Given the description of an element on the screen output the (x, y) to click on. 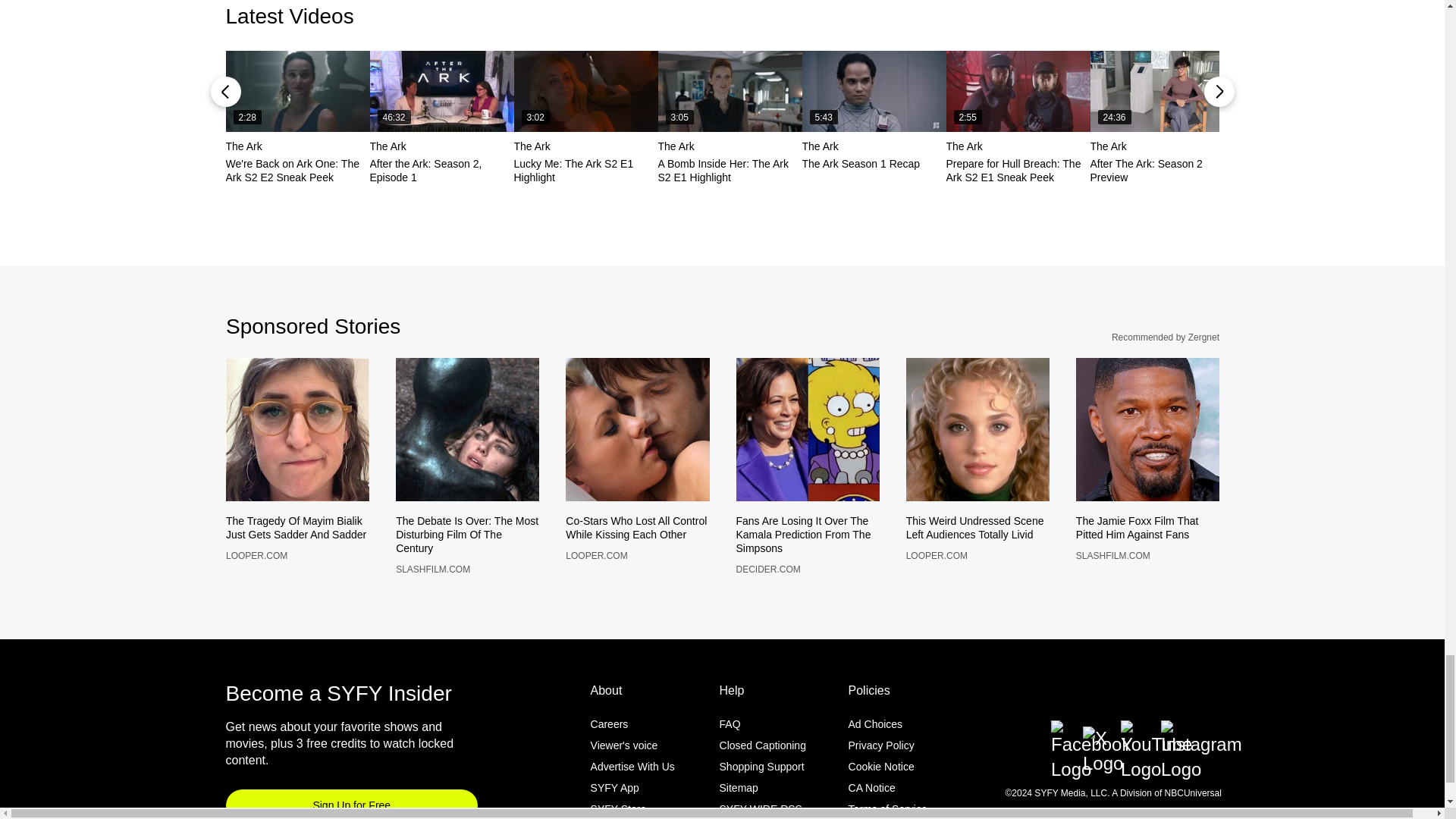
Prepare for Hull Breach: The Ark S2 E1 Sneak Peek (1018, 90)
A Bomb Inside Her: The Ark S2 E1 Highlight (730, 90)
After The Ark: Season 2 Preview (1162, 90)
We're Back on Ark One: The Ark S2 E2 Sneak Peek (297, 90)
Advertise With Us (633, 791)
Lucky Me: The Ark S2 E1 Highlight (585, 90)
After the Ark: Season 2, Episode 1 (441, 90)
The Ark Season 1 Recap (874, 90)
